Given the description of an element on the screen output the (x, y) to click on. 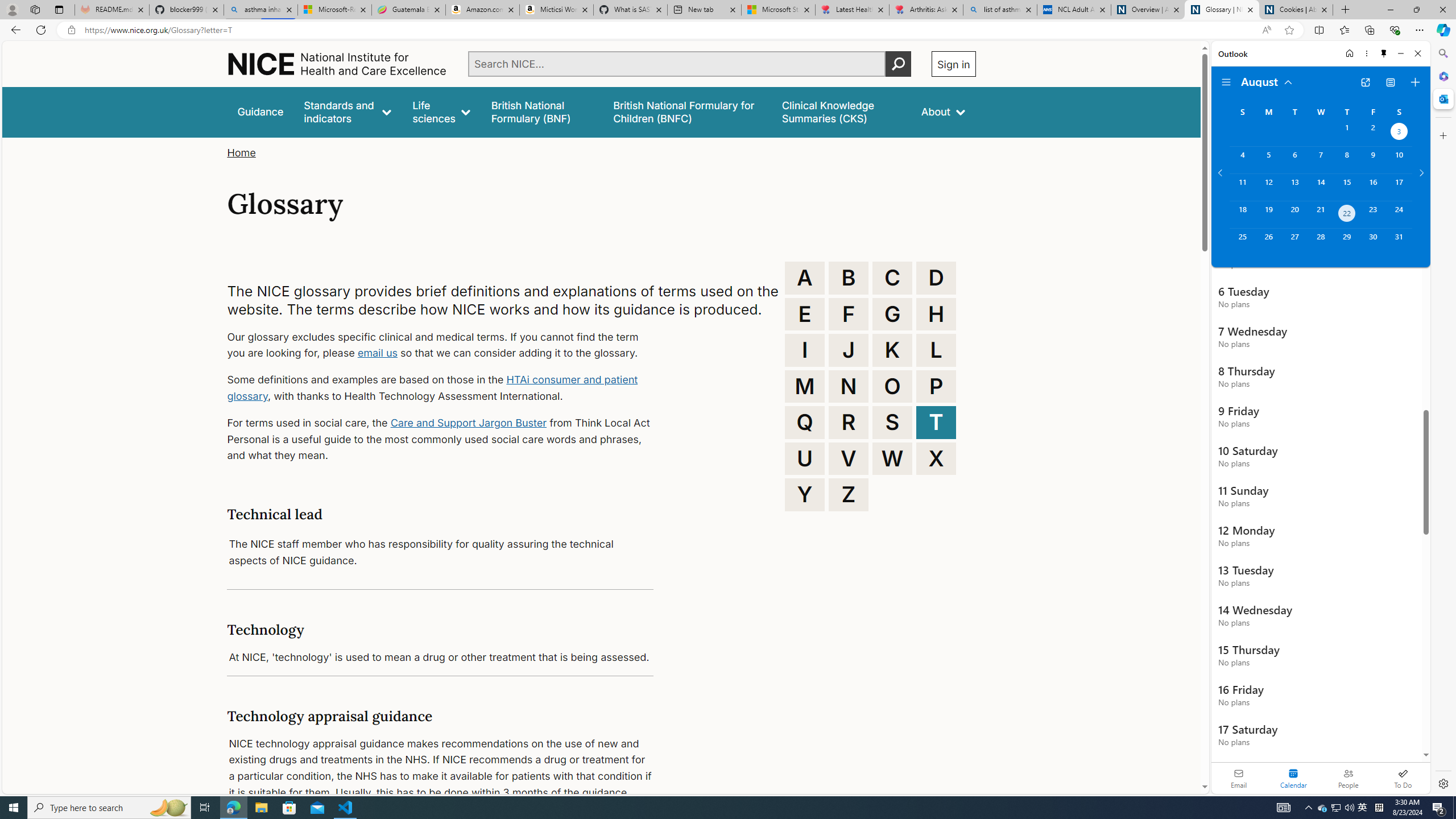
Friday, August 16, 2024.  (1372, 186)
A (804, 277)
V (848, 458)
Email (1238, 777)
D (935, 277)
K (892, 350)
Thursday, August 15, 2024.  (1346, 186)
Tuesday, August 13, 2024.  (1294, 186)
L (935, 350)
Wednesday, August 14, 2024.  (1320, 186)
